Given the description of an element on the screen output the (x, y) to click on. 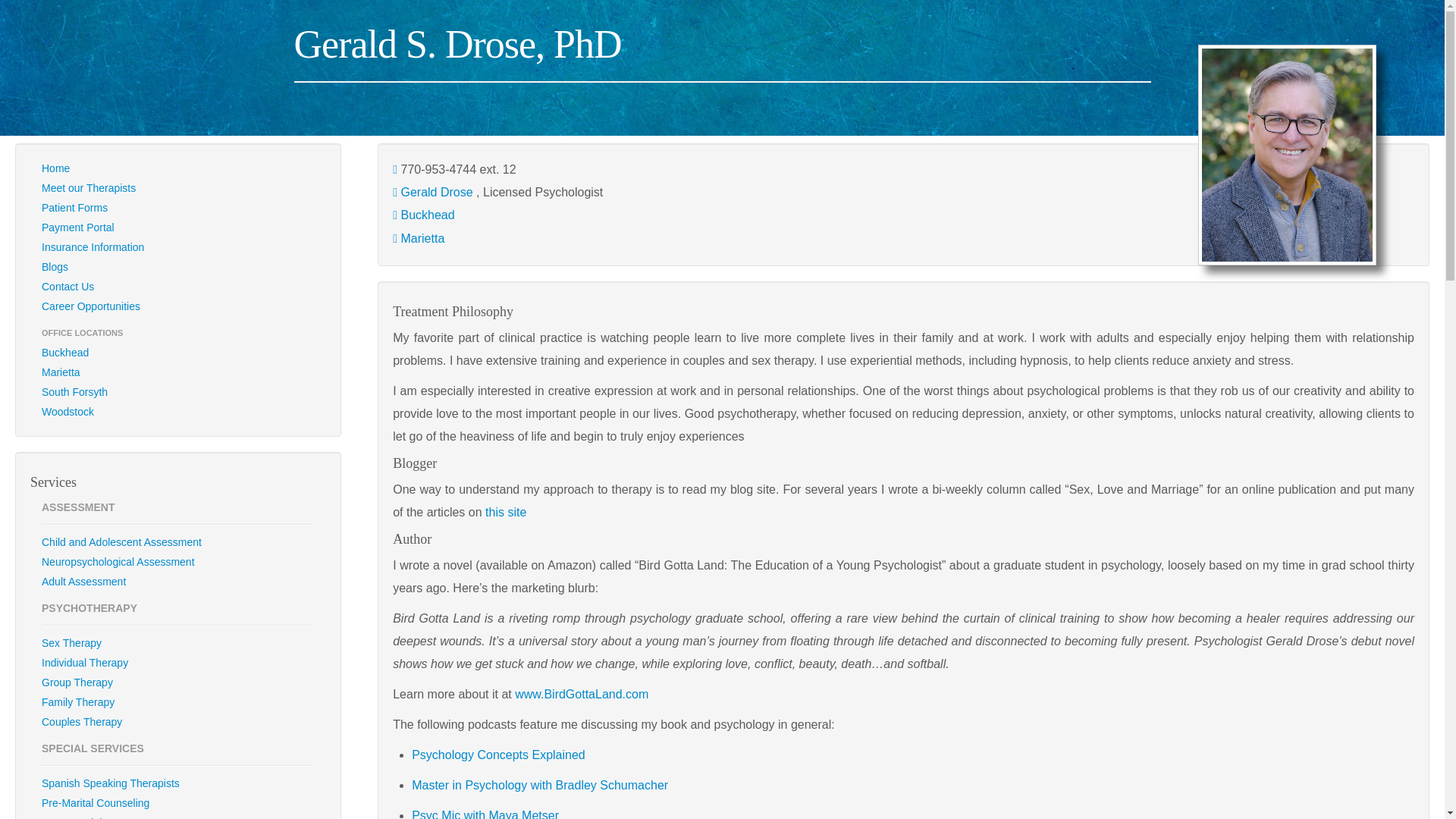
Group Therapy (178, 682)
Blogs (178, 266)
South Forsyth (178, 392)
Pre-Marital Counseling (178, 803)
Neuropsychological Assessment (178, 561)
Marietta (422, 237)
Psyc Mic with Maya Metser (485, 814)
Payment Portal (178, 227)
Home (178, 168)
www.BirdGottaLand.com (581, 694)
